Given the description of an element on the screen output the (x, y) to click on. 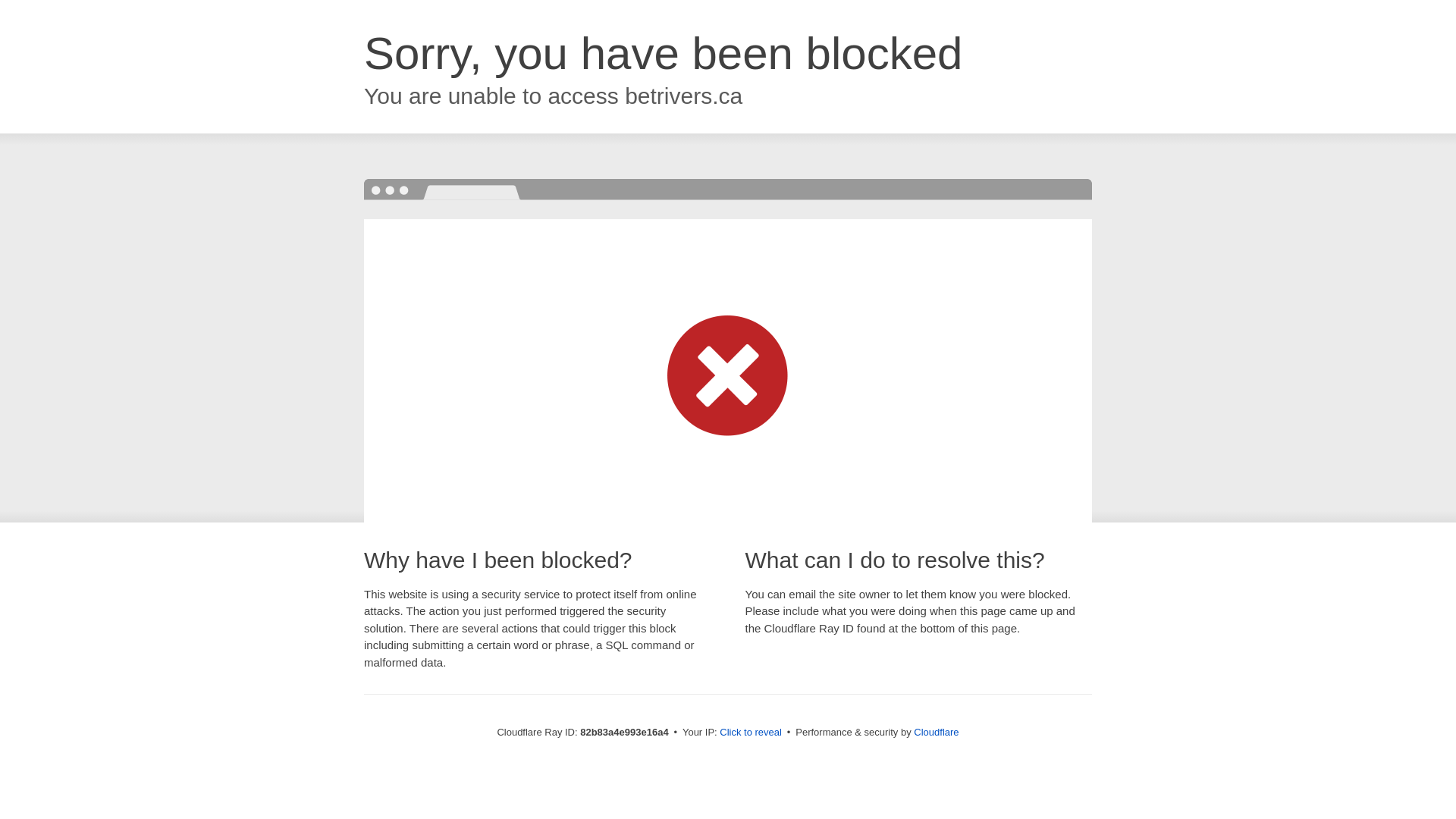
Cloudflare Element type: text (935, 731)
Click to reveal Element type: text (750, 732)
